Given the description of an element on the screen output the (x, y) to click on. 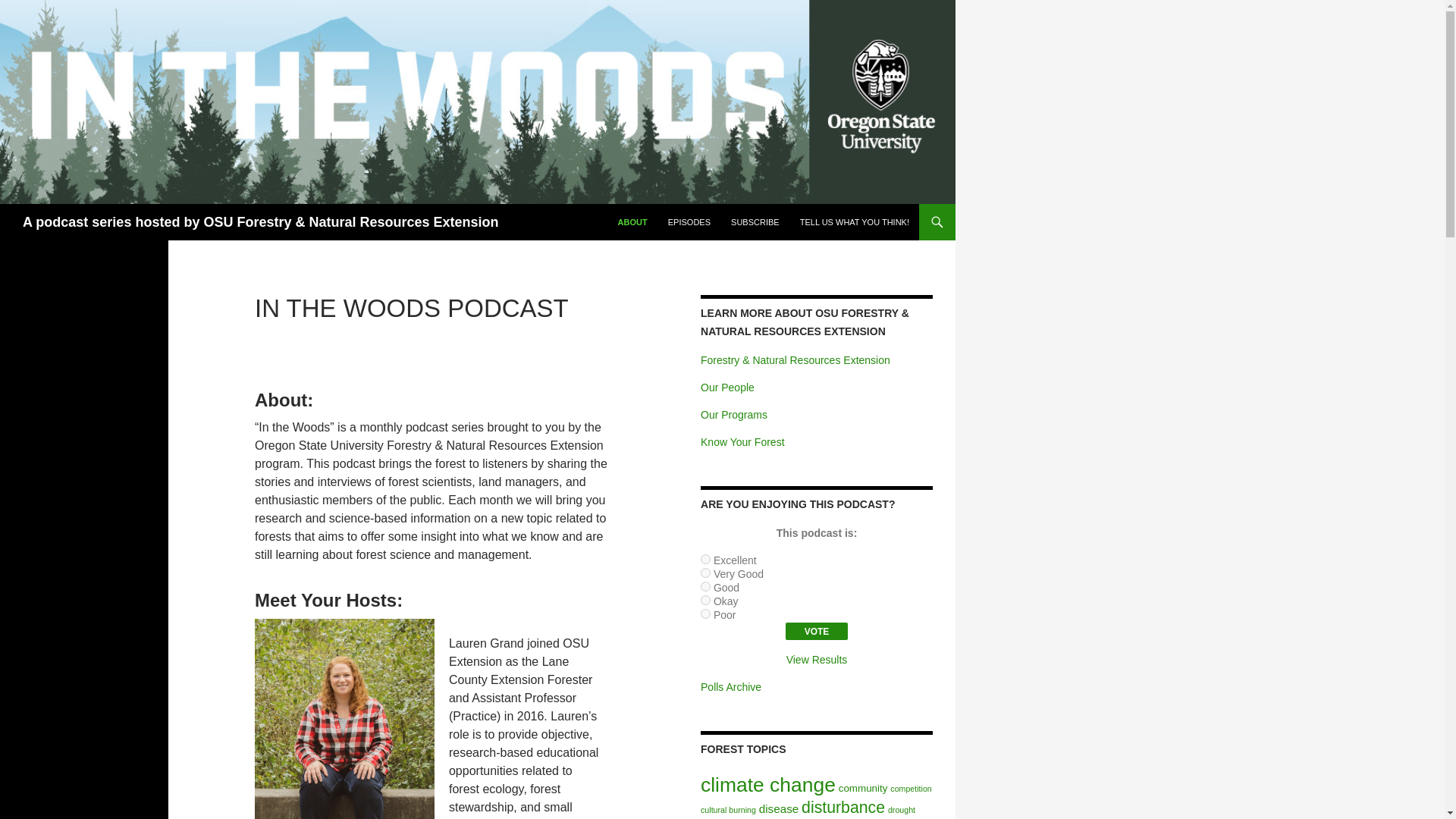
community (863, 787)
6 (705, 559)
View Results Of This Poll (816, 659)
ABOUT (632, 221)
EPISODES (689, 221)
TELL US WHAT YOU THINK! (854, 221)
View Results (816, 659)
Our People (727, 387)
9 (705, 600)
disease (777, 808)
Polls Archive (730, 686)
disturbance (843, 807)
   Vote    (817, 630)
